Given the description of an element on the screen output the (x, y) to click on. 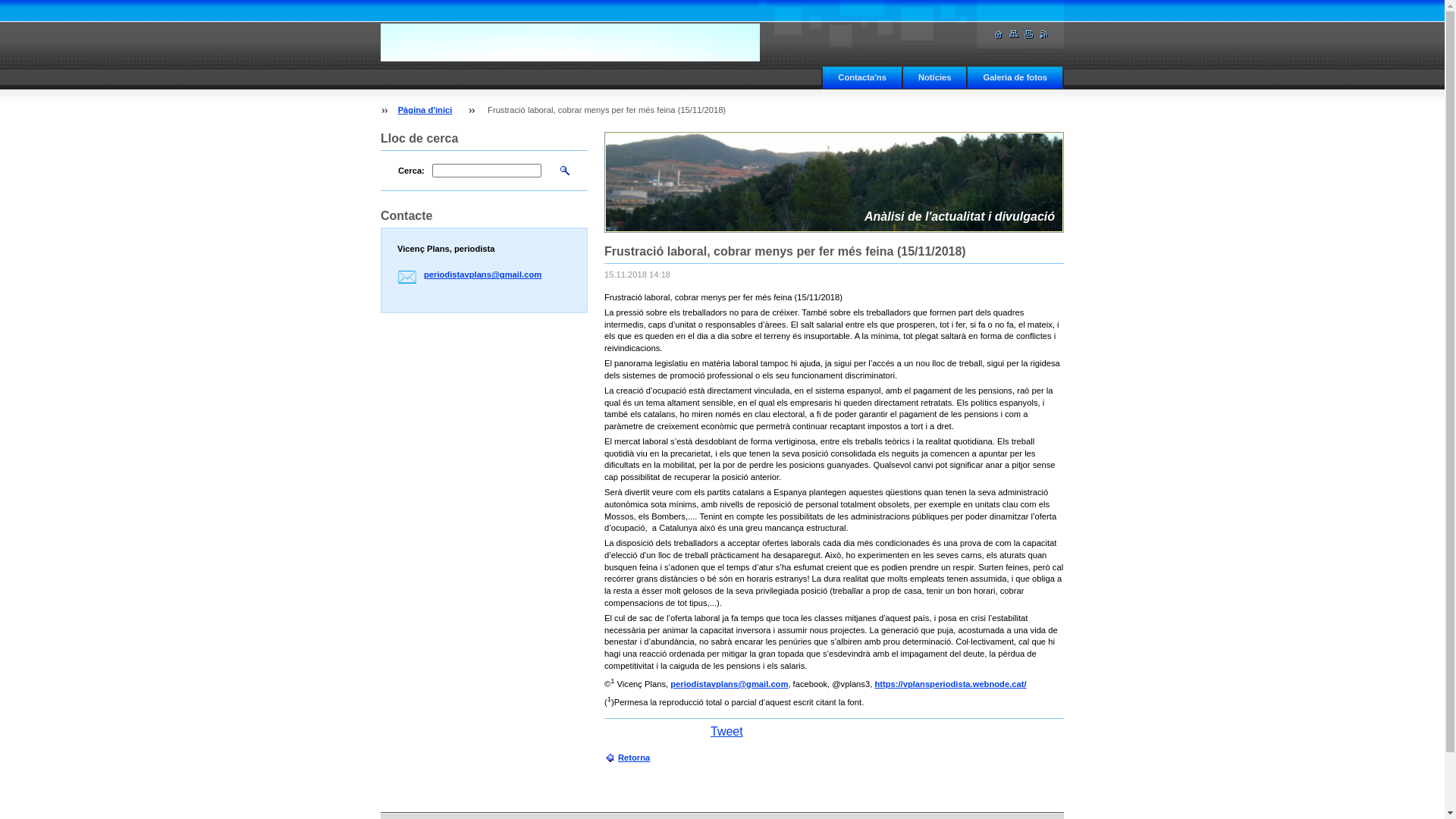
Anar al mapa web. Element type: hover (1013, 34)
periodistavplans@gmail.com Element type: text (728, 683)
RSS Feeds Element type: hover (1043, 34)
Galeria de fotos Element type: text (1014, 75)
Retorna Element type: text (626, 757)
periodistavplans@gmail.com Element type: text (482, 274)
Tweet Element type: text (726, 730)
https://vplansperiodista.webnode.cat/ Element type: text (950, 683)
Contacta'ns Element type: text (861, 75)
